Given the description of an element on the screen output the (x, y) to click on. 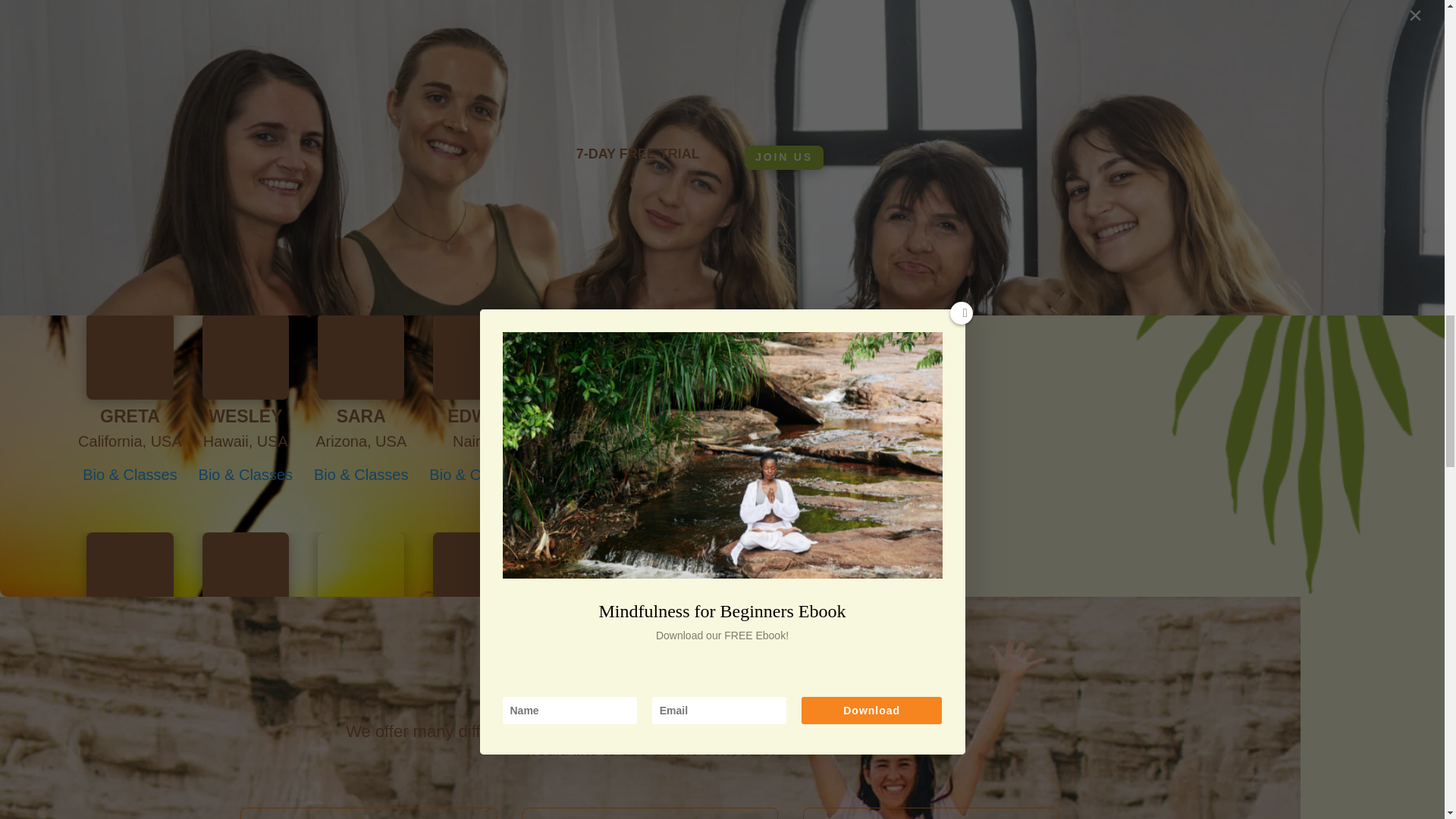
KALPANA (360, 225)
MADDIE (130, 230)
BANISH (592, 230)
SHANNON (475, 230)
GISELE (246, 230)
